Given the description of an element on the screen output the (x, y) to click on. 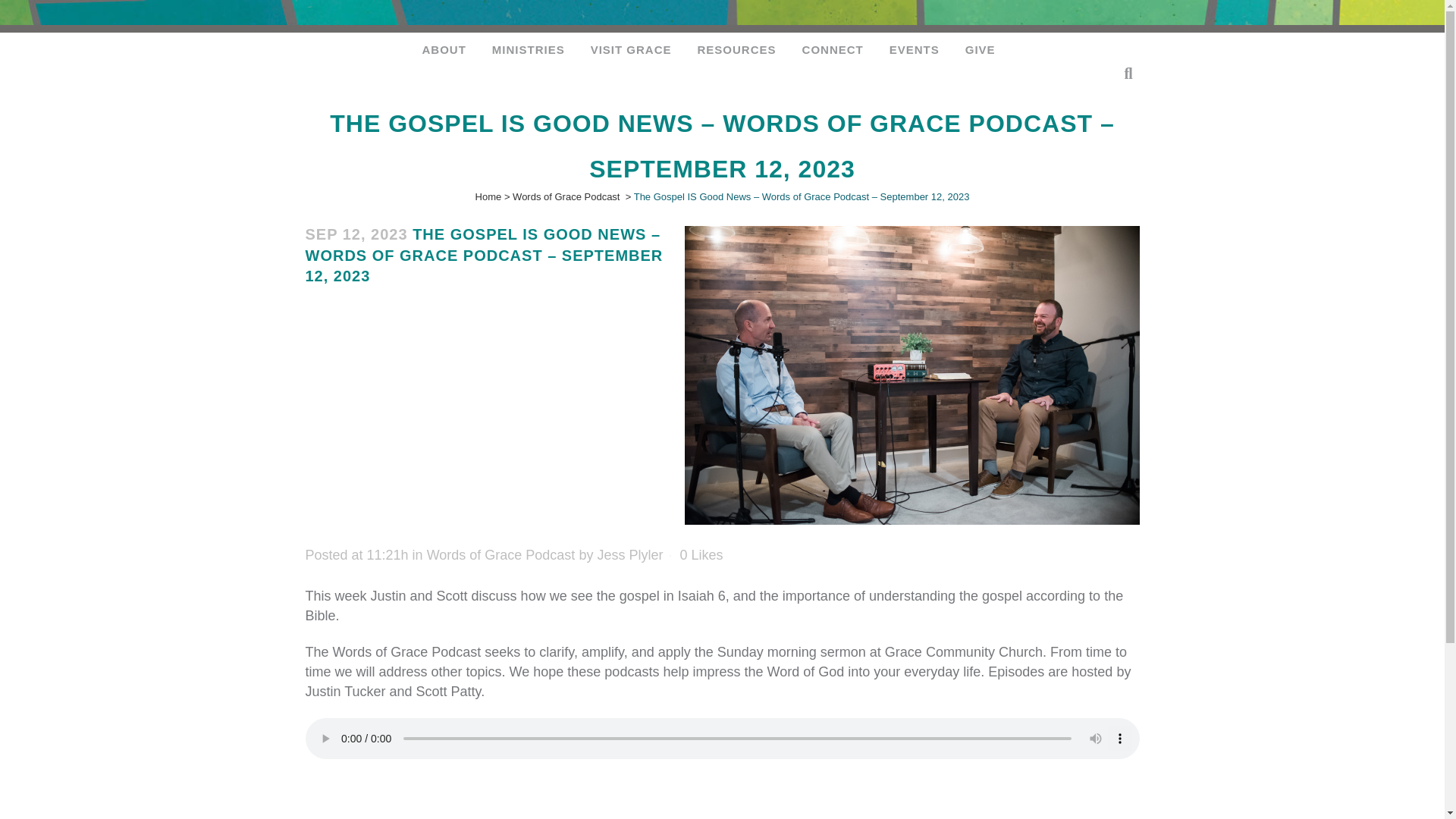
RESOURCES (736, 49)
Like this (701, 554)
MINISTRIES (528, 49)
ABOUT (444, 49)
VISIT GRACE (631, 49)
